Given the description of an element on the screen output the (x, y) to click on. 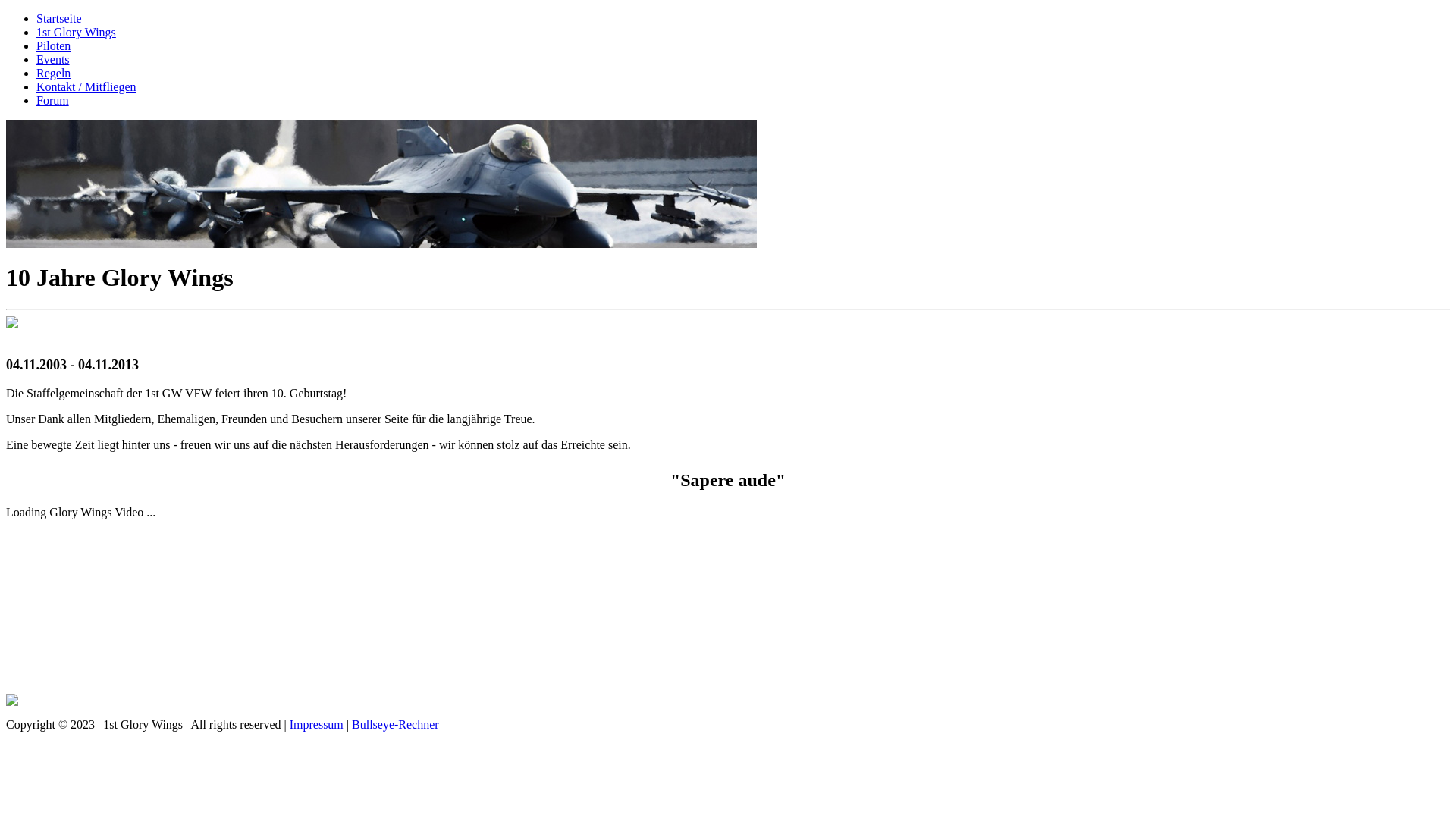
Startseite Element type: text (58, 18)
1st Glory Wings Element type: text (76, 31)
Impressum Element type: text (316, 724)
Regeln Element type: text (53, 72)
Events Element type: text (52, 59)
Bullseye-Rechner Element type: text (395, 724)
Forum Element type: text (52, 100)
Piloten Element type: text (53, 45)
Kontakt / Mitfliegen Element type: text (86, 86)
